Given the description of an element on the screen output the (x, y) to click on. 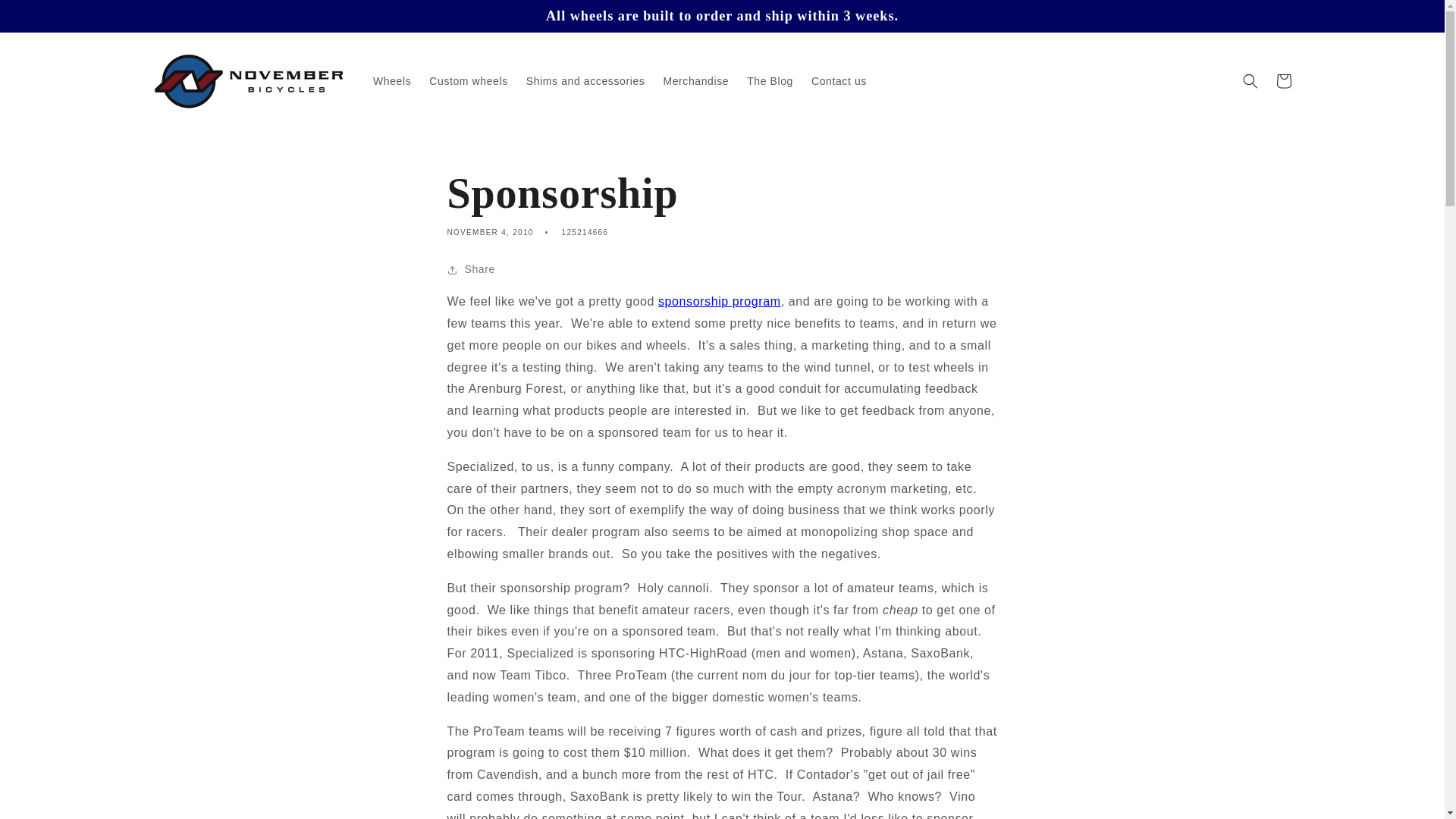
Merchandise (695, 81)
The Blog (770, 81)
Cart (1283, 80)
Skip to content (45, 17)
Contact us (839, 81)
Custom wheels (468, 81)
Shims and accessories (584, 81)
sponsorship program (719, 300)
Wheels (392, 81)
